Given the description of an element on the screen output the (x, y) to click on. 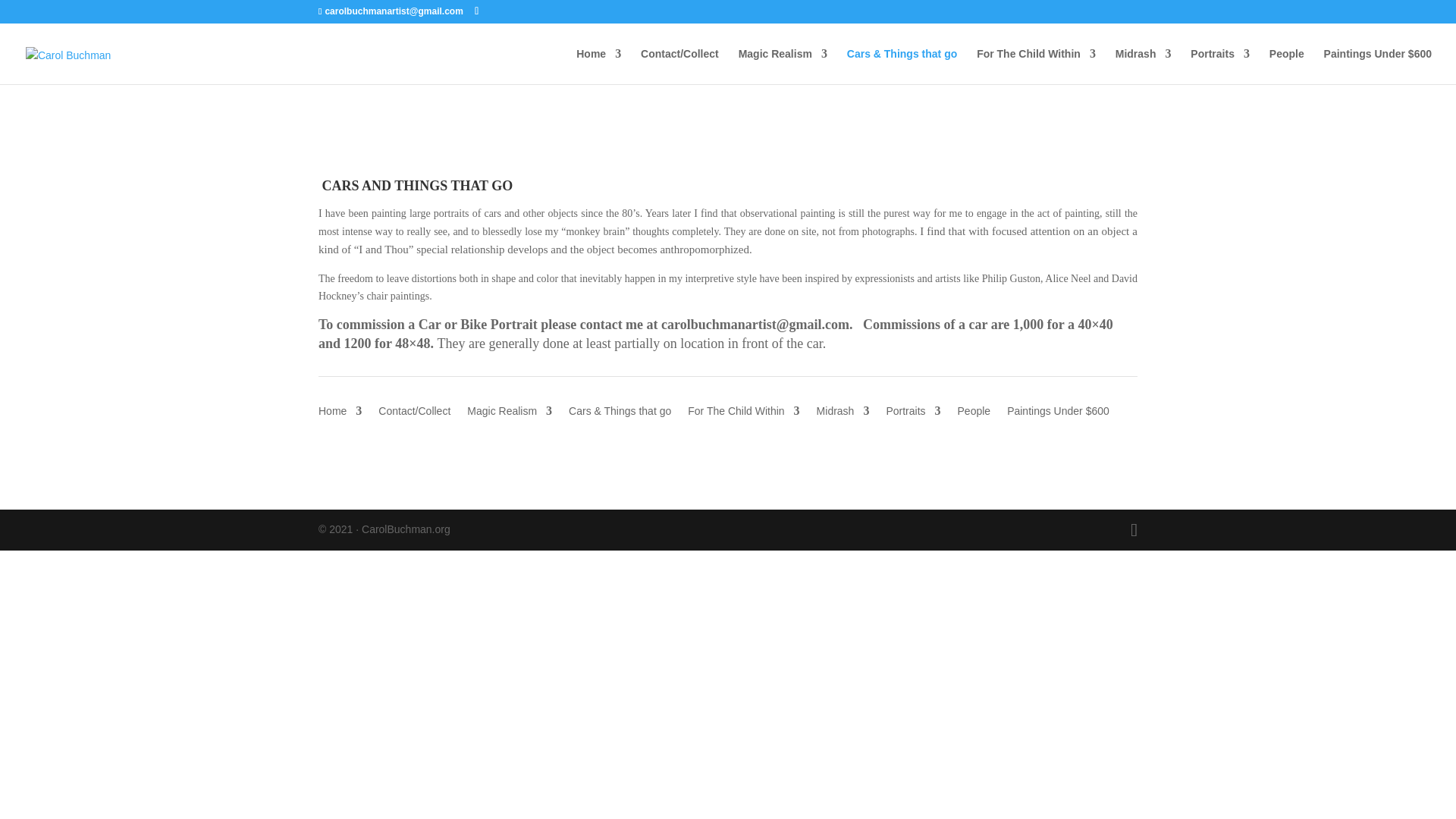
For The Child Within (1036, 66)
Home (598, 66)
Midrash (842, 413)
Midrash (1143, 66)
Home (339, 413)
People (1286, 66)
Magic Realism (509, 413)
Portraits (1220, 66)
Magic Realism (782, 66)
For The Child Within (743, 413)
